Given the description of an element on the screen output the (x, y) to click on. 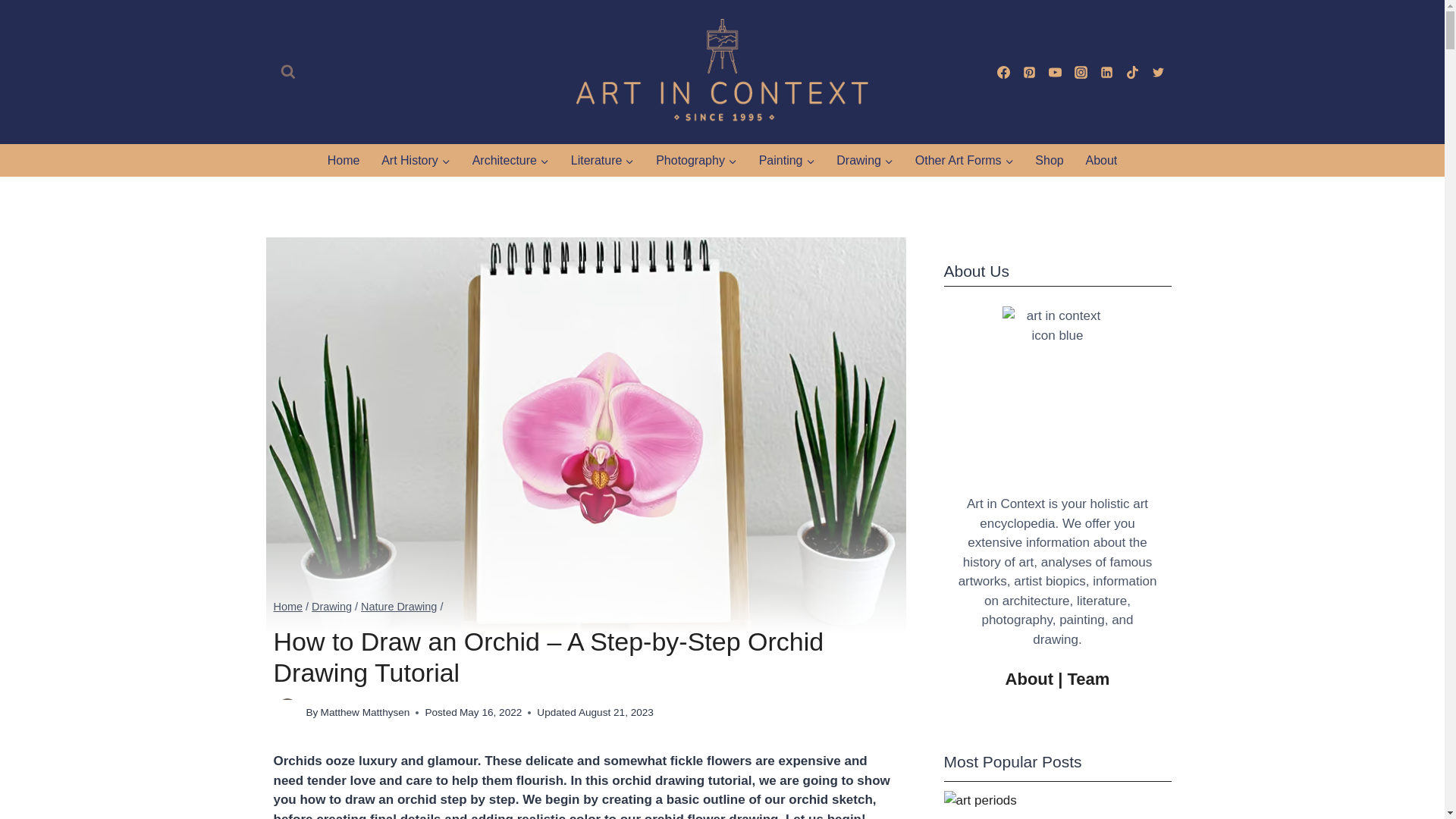
Painting (786, 160)
Art History (416, 160)
Literature (602, 160)
Architecture (510, 160)
Home (342, 160)
Photography (696, 160)
